Given the description of an element on the screen output the (x, y) to click on. 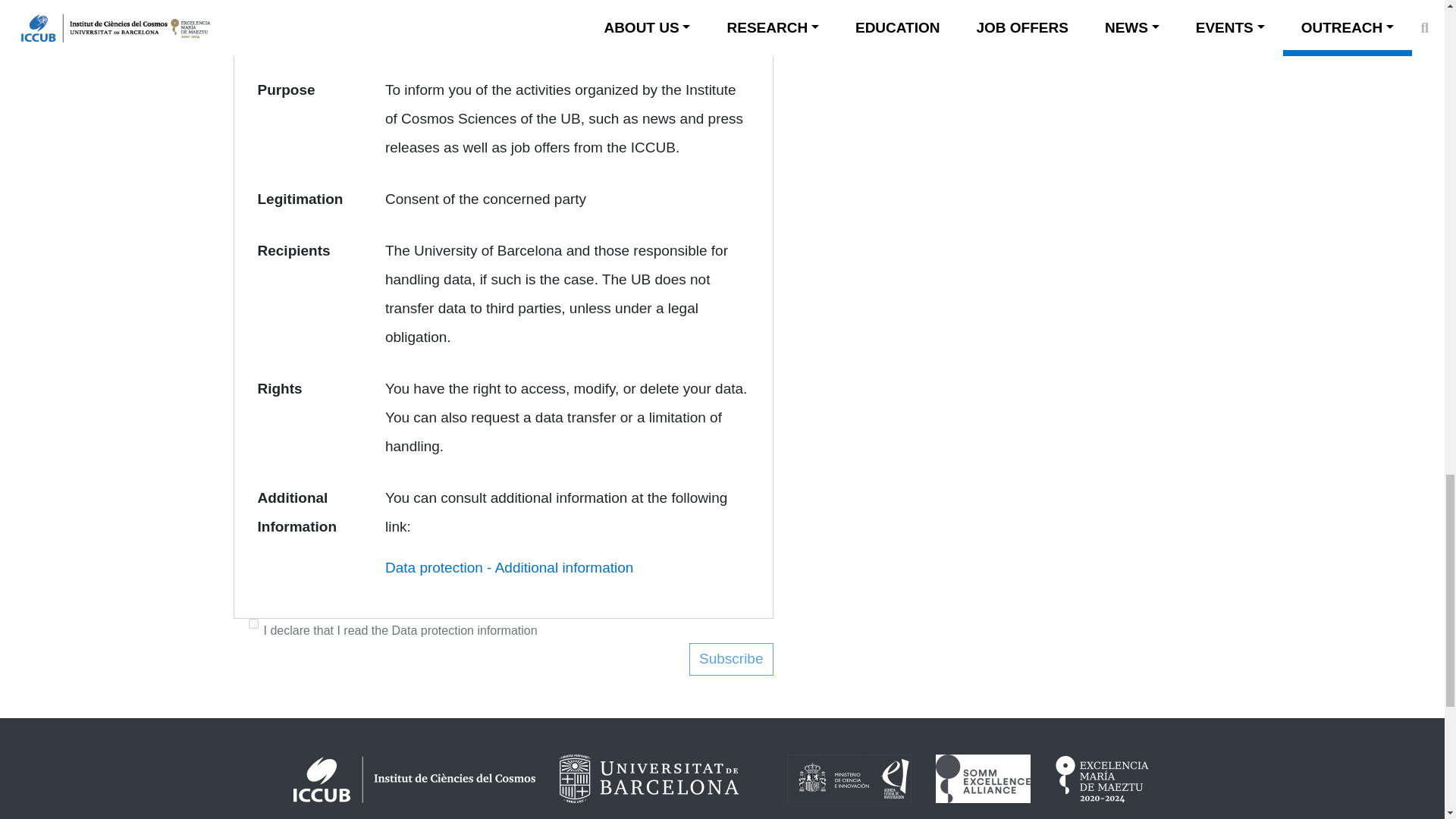
Subscribe (730, 658)
1 (253, 623)
